Given the description of an element on the screen output the (x, y) to click on. 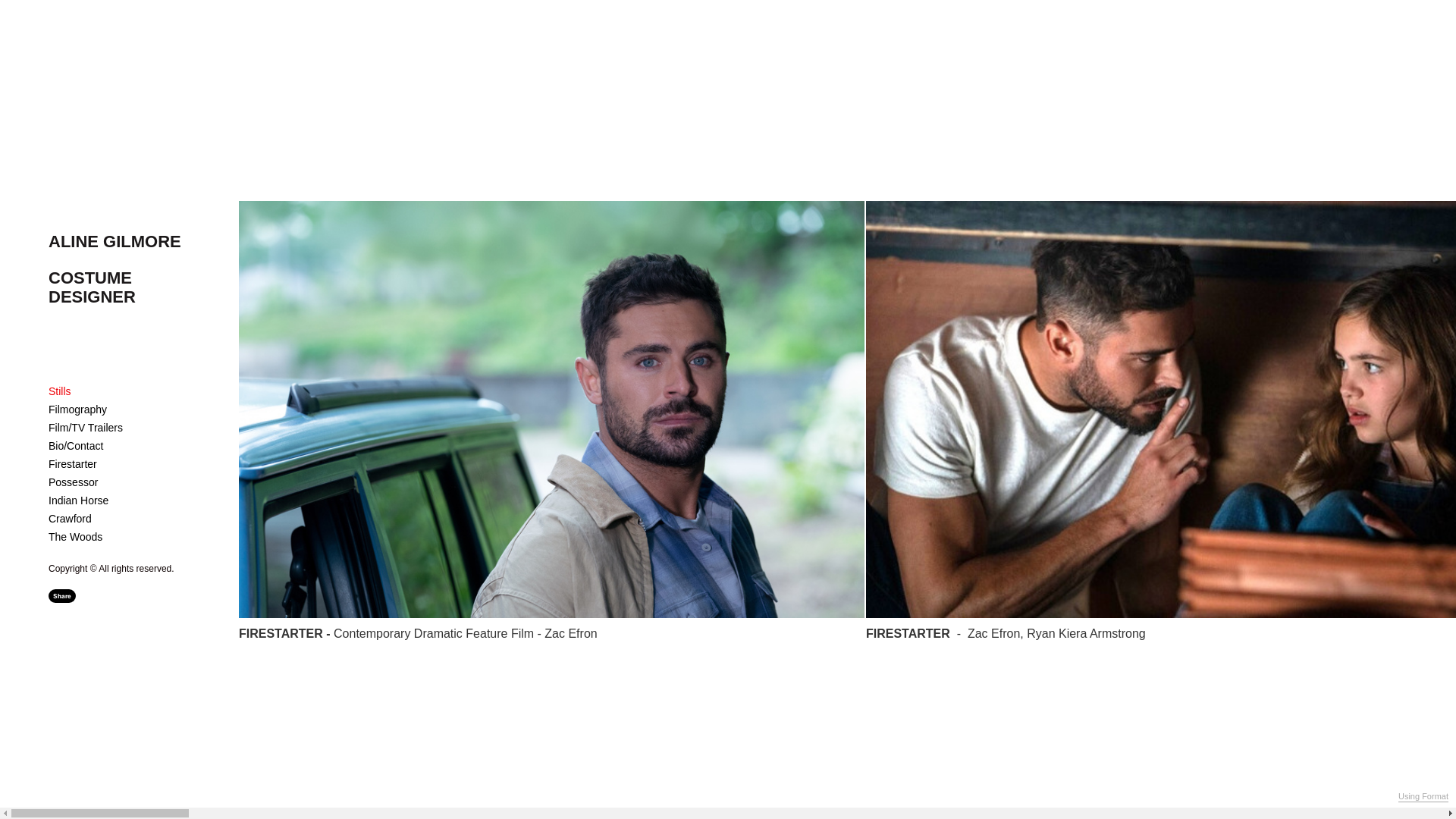
The Woods Element type: text (75, 537)
Filmography Element type: text (77, 409)
Bio/Contact Element type: text (75, 446)
Possessor Element type: text (72, 482)
Share Element type: text (62, 595)
Indian Horse Element type: text (78, 500)
Crawford Element type: text (69, 519)
Film/TV Trailers Element type: text (85, 428)
ALINE GILMORE

COSTUME DESIGNER Element type: text (116, 288)
Stills Element type: text (59, 391)
Using Format Element type: text (1423, 796)
Firestarter Element type: text (72, 464)
